Given the description of an element on the screen output the (x, y) to click on. 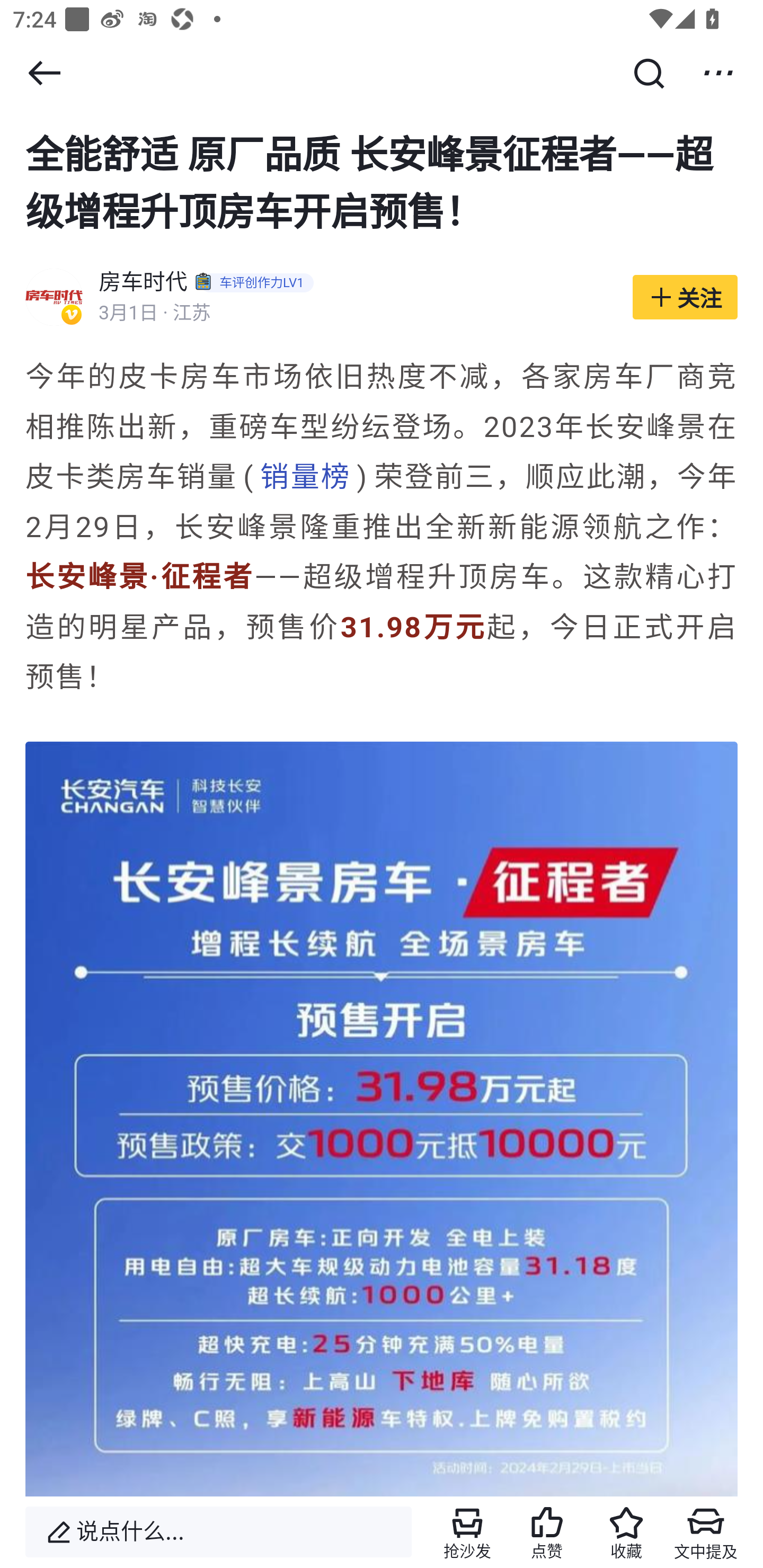
 (44, 72)
 (648, 72)
 (718, 72)
房车时代 (143, 283)
5dca4359462c211ae53ac967efc56334 车评创作力LV1 (256, 283)
关注 (684, 297)
3月1日 · 江苏 3月1日  · 江苏 (355, 314)
销量榜 (304, 477)
4IaeRWSdlT0_VSIi-sk_eaKIlAk (381, 1118)
 抢沙发 (467, 1531)
点赞 (546, 1531)
收藏 (625, 1531)
 文中提及 (705, 1531)
 说点什么... (218, 1531)
